Given the description of an element on the screen output the (x, y) to click on. 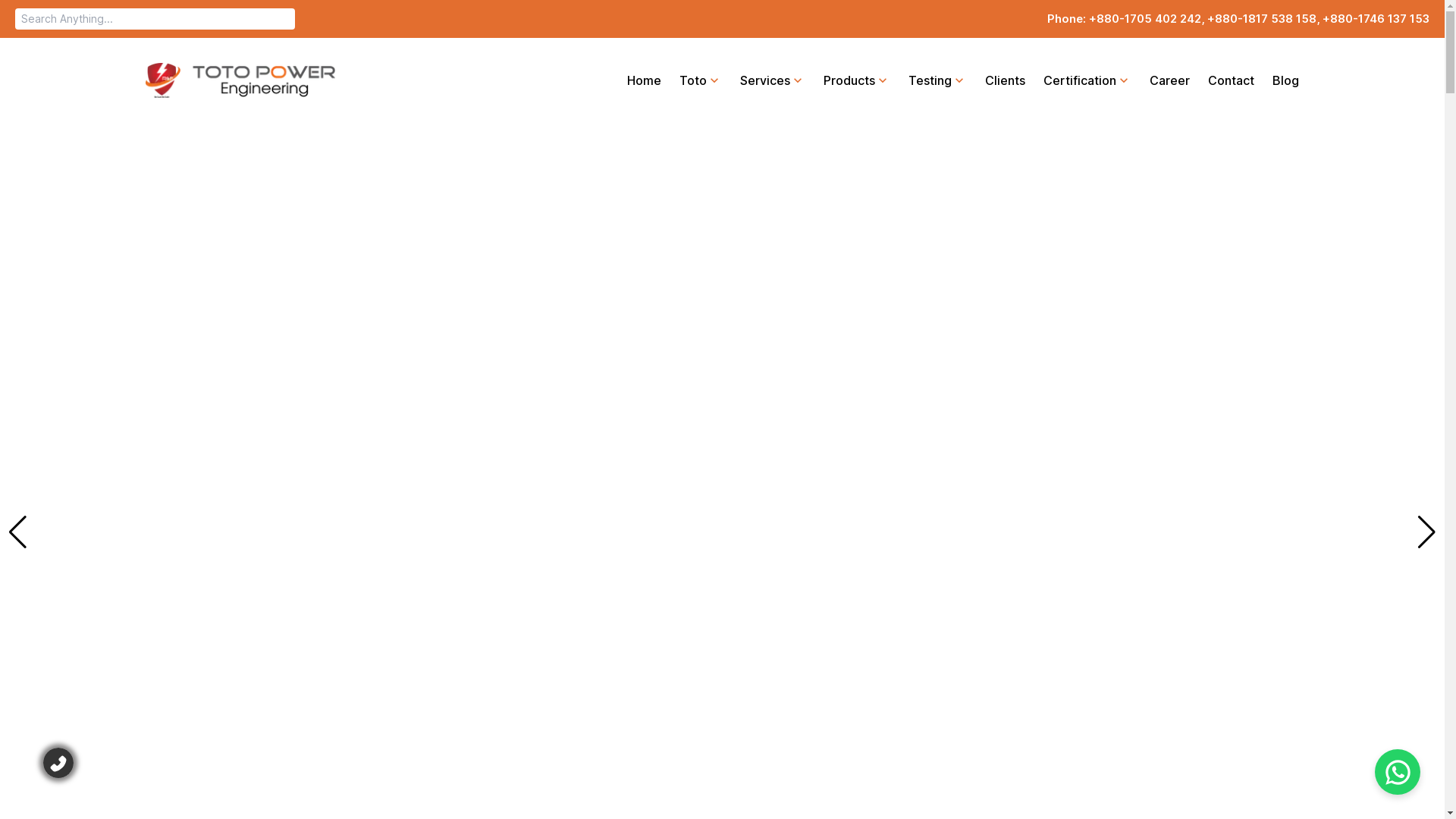
Blog Element type: text (1237, 79)
Career Element type: text (1121, 79)
Products Element type: text (808, 79)
Clients Element type: text (957, 79)
Contact Element type: text (1183, 79)
Certification Element type: text (1039, 79)
Services Element type: text (724, 79)
Testing Element type: text (889, 79)
Toto Element type: text (652, 79)
Home Element type: text (596, 79)
